Given the description of an element on the screen output the (x, y) to click on. 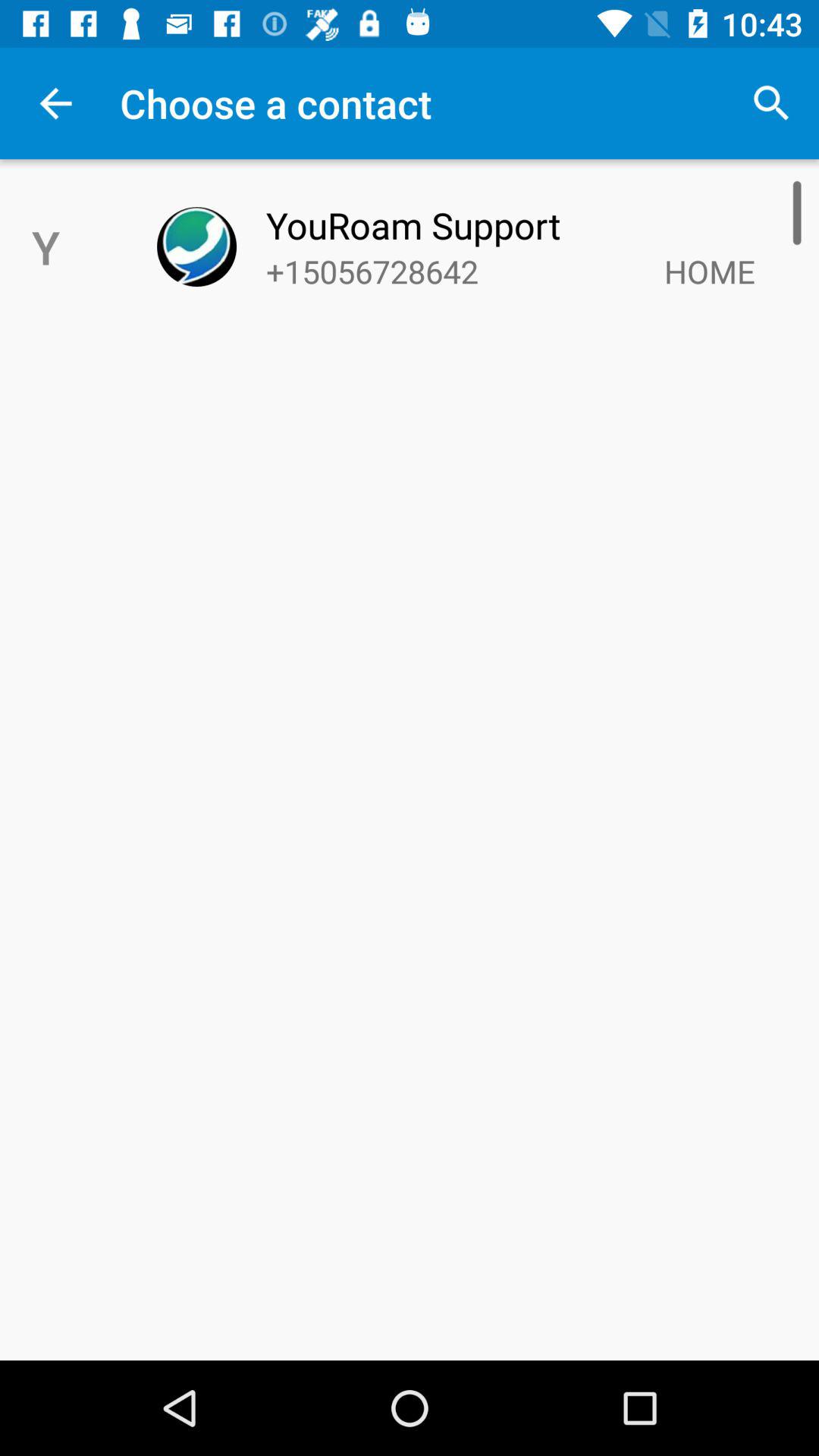
turn on the item above youroam support item (771, 103)
